Given the description of an element on the screen output the (x, y) to click on. 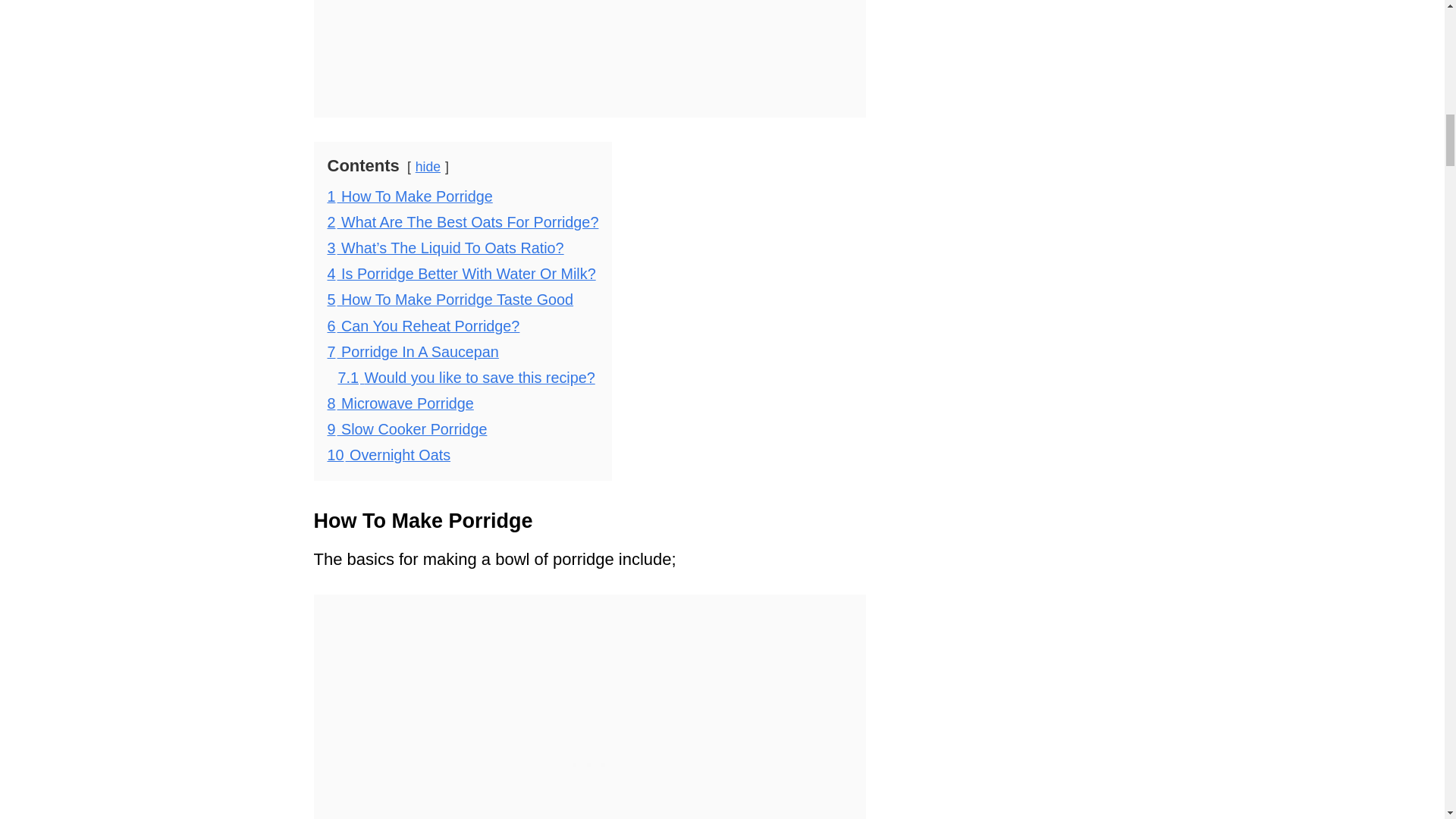
7 Porridge In A Saucepan (413, 351)
5 How To Make Porridge Taste Good (450, 299)
1 How To Make Porridge (410, 196)
7.1 Would you like to save this recipe? (466, 377)
4 Is Porridge Better With Water Or Milk? (461, 273)
9 Slow Cooker Porridge (407, 428)
10 Overnight Oats (389, 454)
8 Microwave Porridge (400, 402)
6 Can You Reheat Porridge? (423, 324)
hide (427, 166)
2 What Are The Best Oats For Porridge? (462, 221)
